Given the description of an element on the screen output the (x, y) to click on. 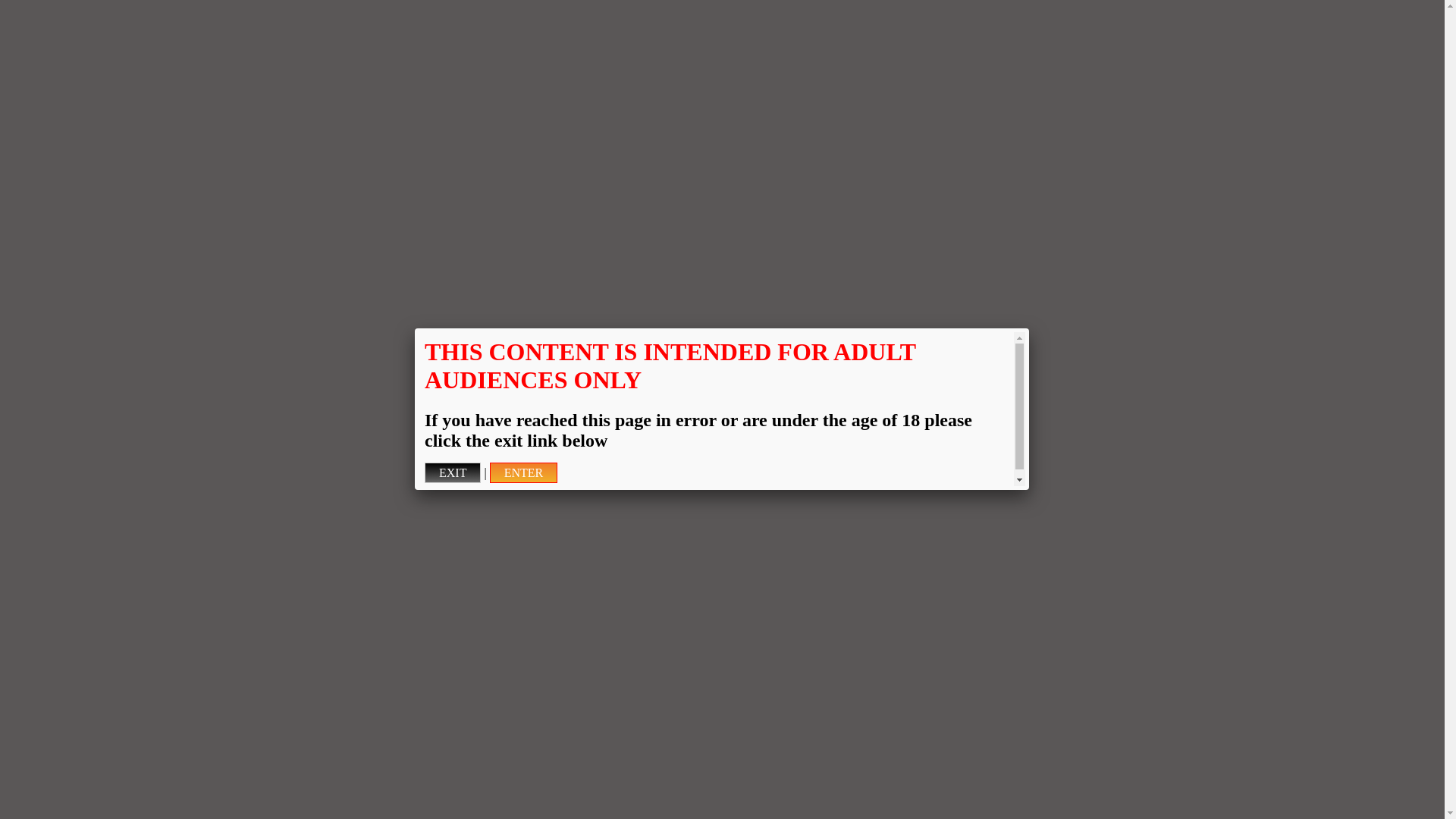
Close Element type: hover (1028, 328)
